Given the description of an element on the screen output the (x, y) to click on. 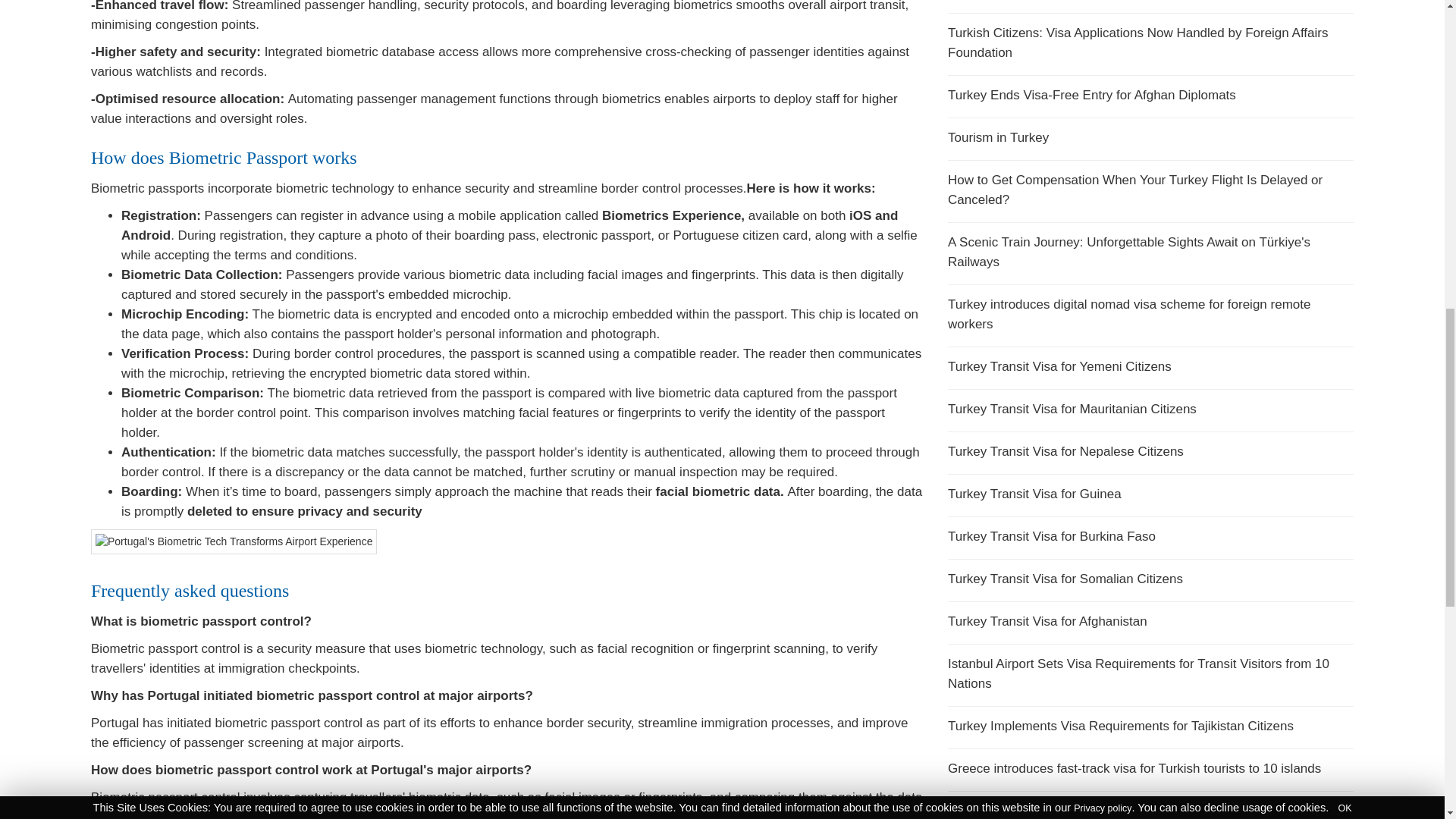
Travel Simplified: Romania Gains Visa-Free Status in Turkey (1150, 4)
Turkey Transit Visa for Yemeni Citizens (1150, 370)
Portugal's Biometric Tech Transforms Airport Experience (233, 541)
Turkey Ends Visa-Free Entry for Afghan Diplomats (1150, 99)
Tourism in Turkey (1150, 141)
